Given the description of an element on the screen output the (x, y) to click on. 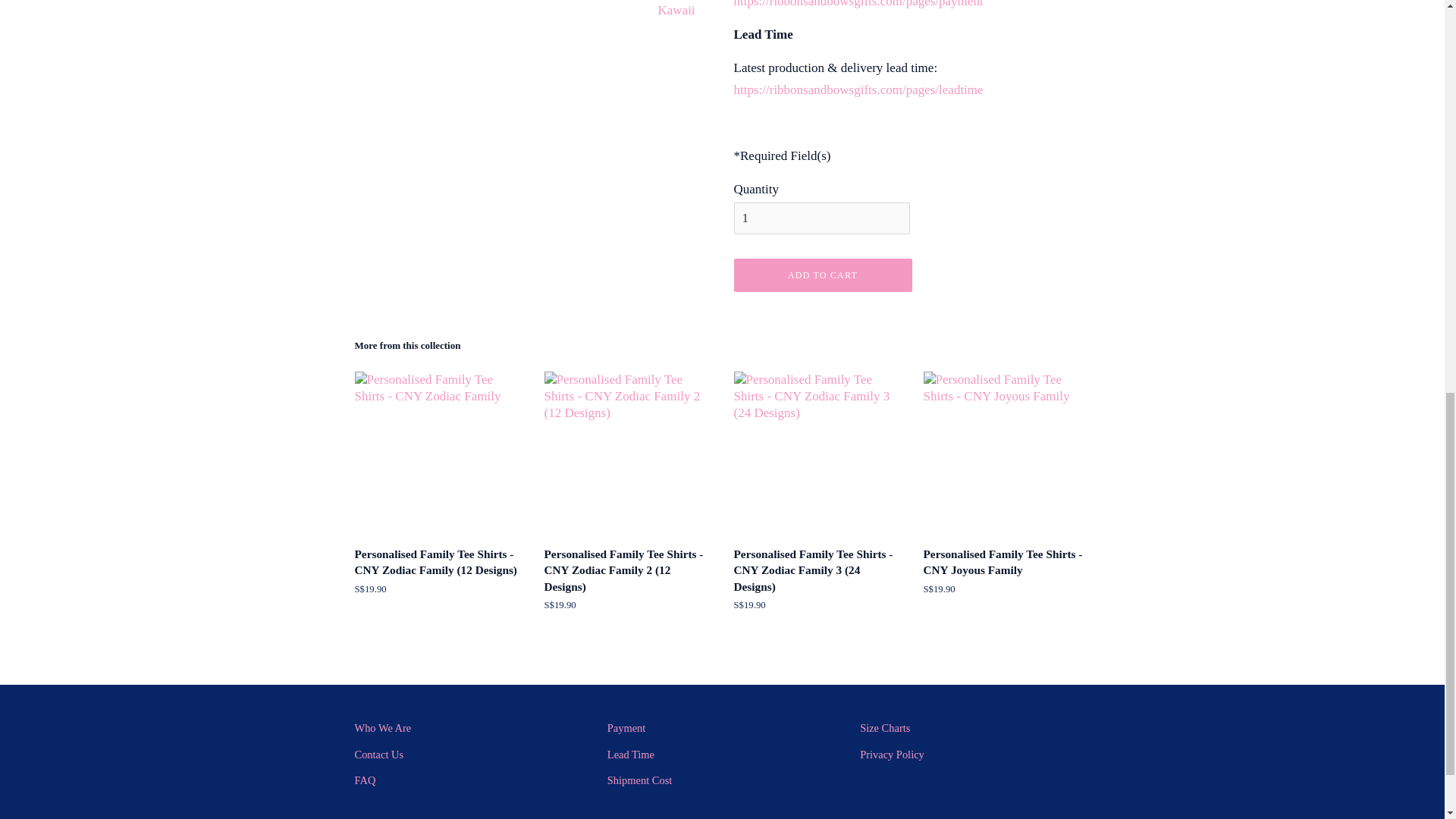
Shipment Cost (639, 779)
Size Charts (885, 727)
FAQs (365, 779)
1 (821, 218)
Payment (626, 727)
Lead Time (630, 754)
Contact Us (379, 754)
Who We Are (383, 727)
Privacy Policy (892, 754)
